Given the description of an element on the screen output the (x, y) to click on. 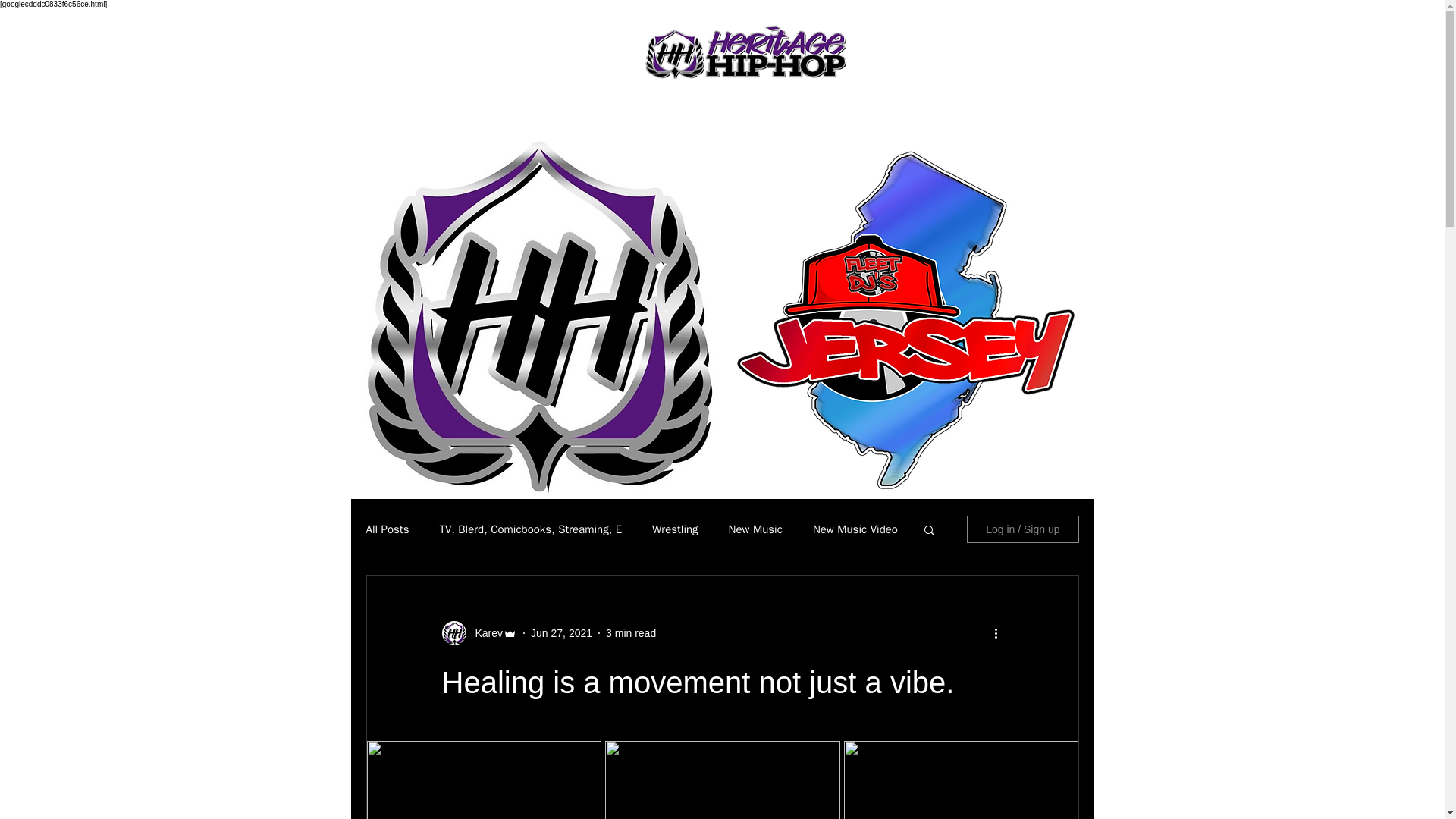
New Music (756, 528)
All Posts (387, 528)
New Music Video (855, 528)
Karev (478, 632)
PODCAST (551, 111)
MEMBERS ONLY (647, 111)
Jun 27, 2021 (561, 632)
AWARDS (473, 111)
TV, Blerd, Comicbooks, Streaming, E (530, 528)
